Given the description of an element on the screen output the (x, y) to click on. 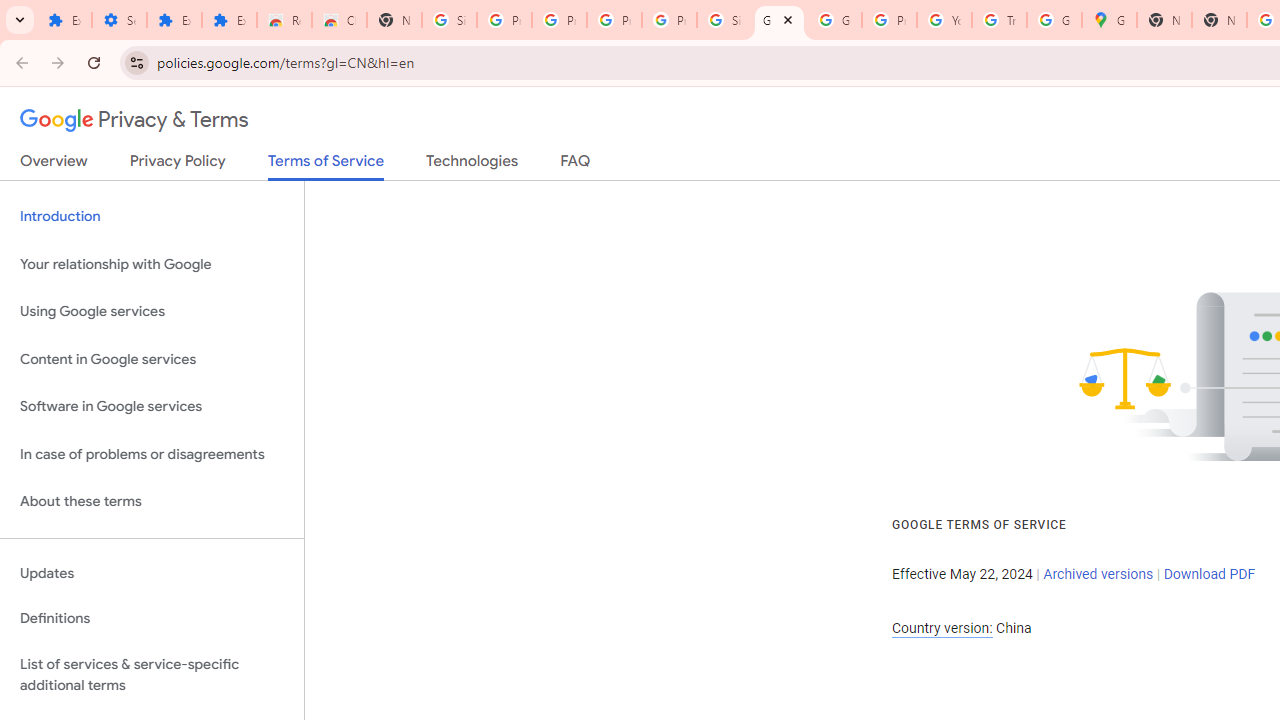
Extensions (229, 20)
Archived versions (1098, 574)
Using Google services (152, 312)
Software in Google services (152, 407)
Definitions (152, 619)
Content in Google services (152, 358)
New Tab (1218, 20)
Settings (119, 20)
